Given the description of an element on the screen output the (x, y) to click on. 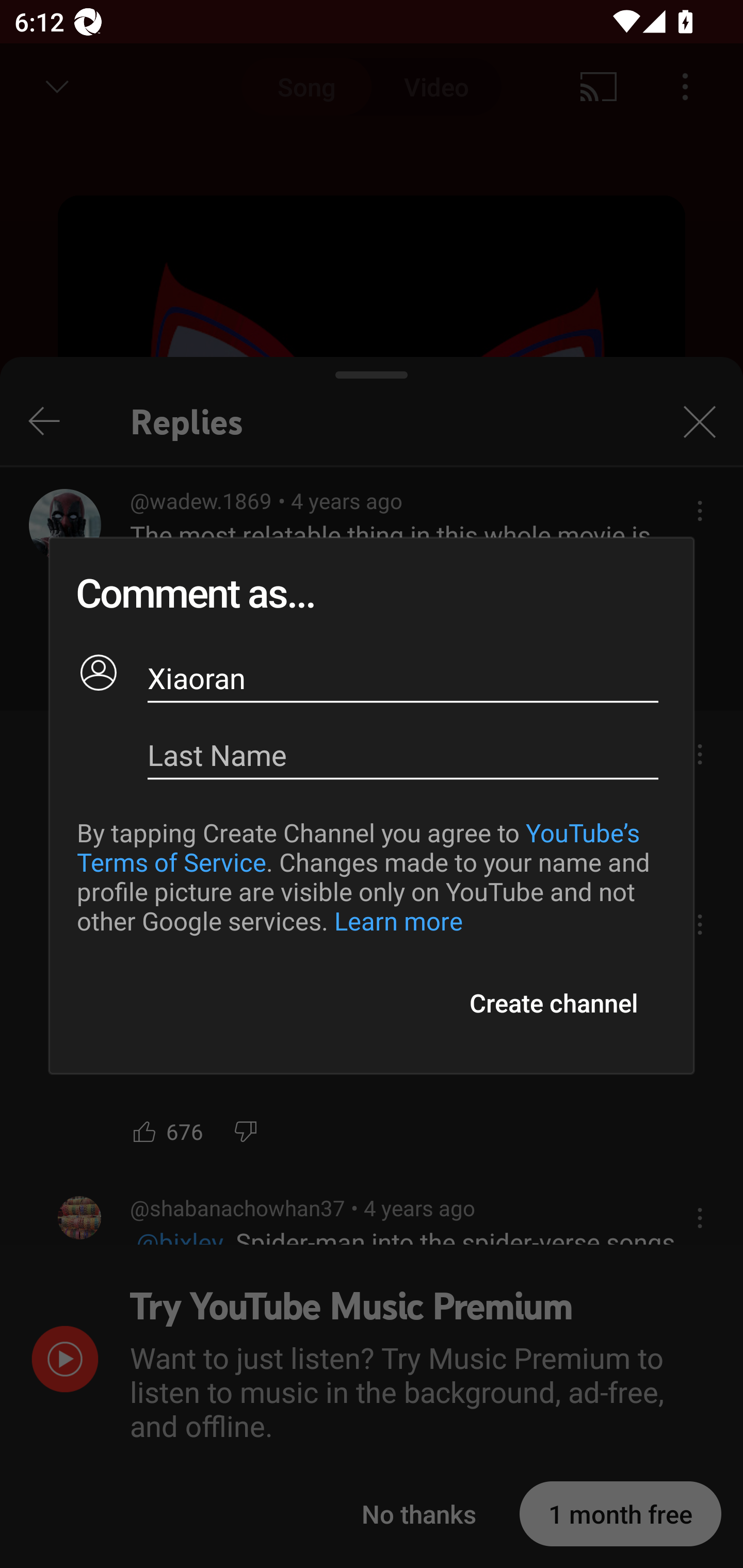
Xiaoran (403, 677)
Last Name (403, 754)
Create channel (552, 1002)
